Given the description of an element on the screen output the (x, y) to click on. 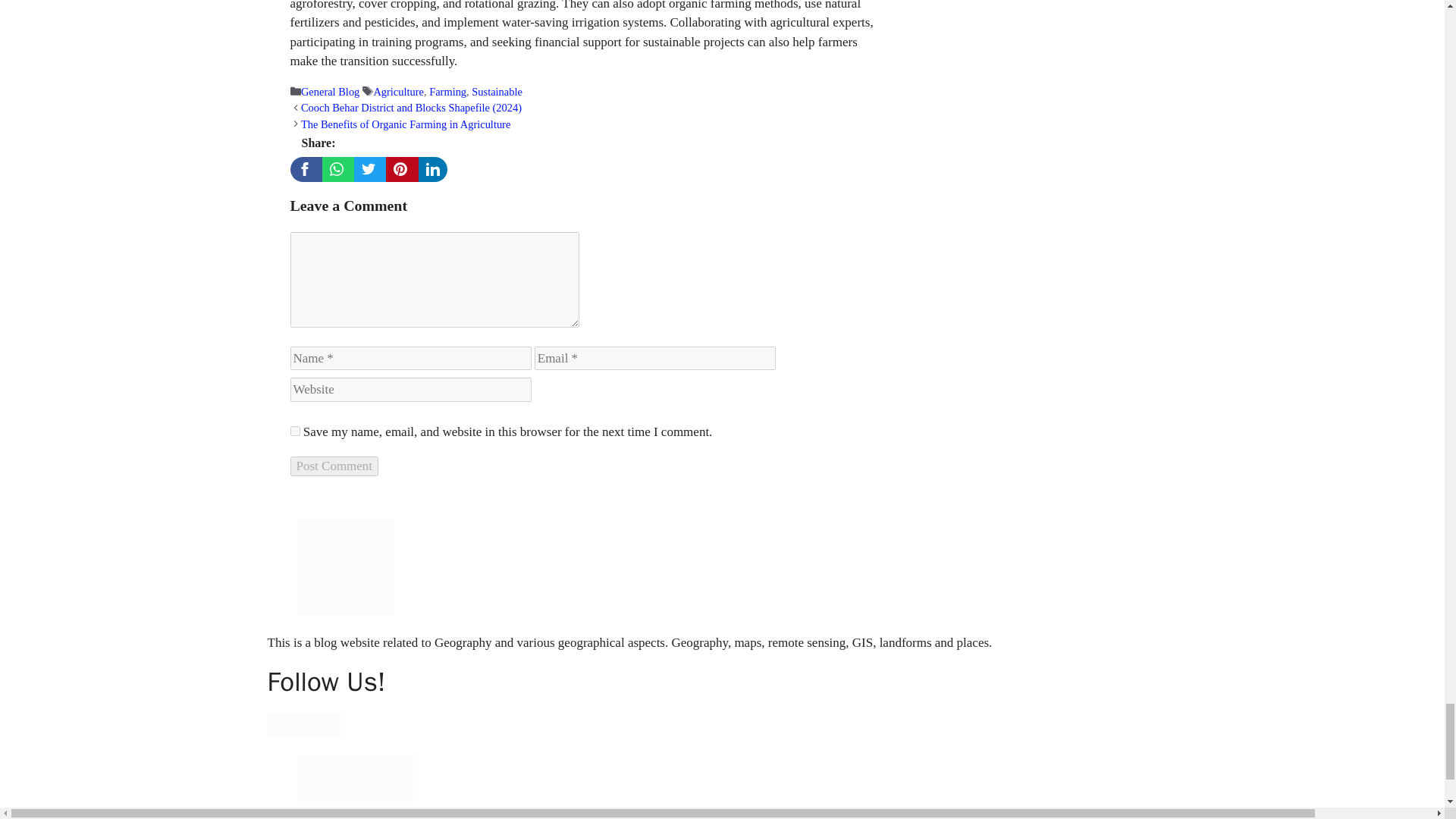
Follow Us on Twitter (303, 724)
General Blog (330, 91)
yes (294, 430)
Farming (447, 91)
The Benefits of Organic Farming in Agriculture (406, 123)
Agriculture (397, 91)
Follow Us on Facebook (278, 724)
Sustainable (496, 91)
Post Comment (333, 465)
Follow Us on YouTube (327, 724)
